Given the description of an element on the screen output the (x, y) to click on. 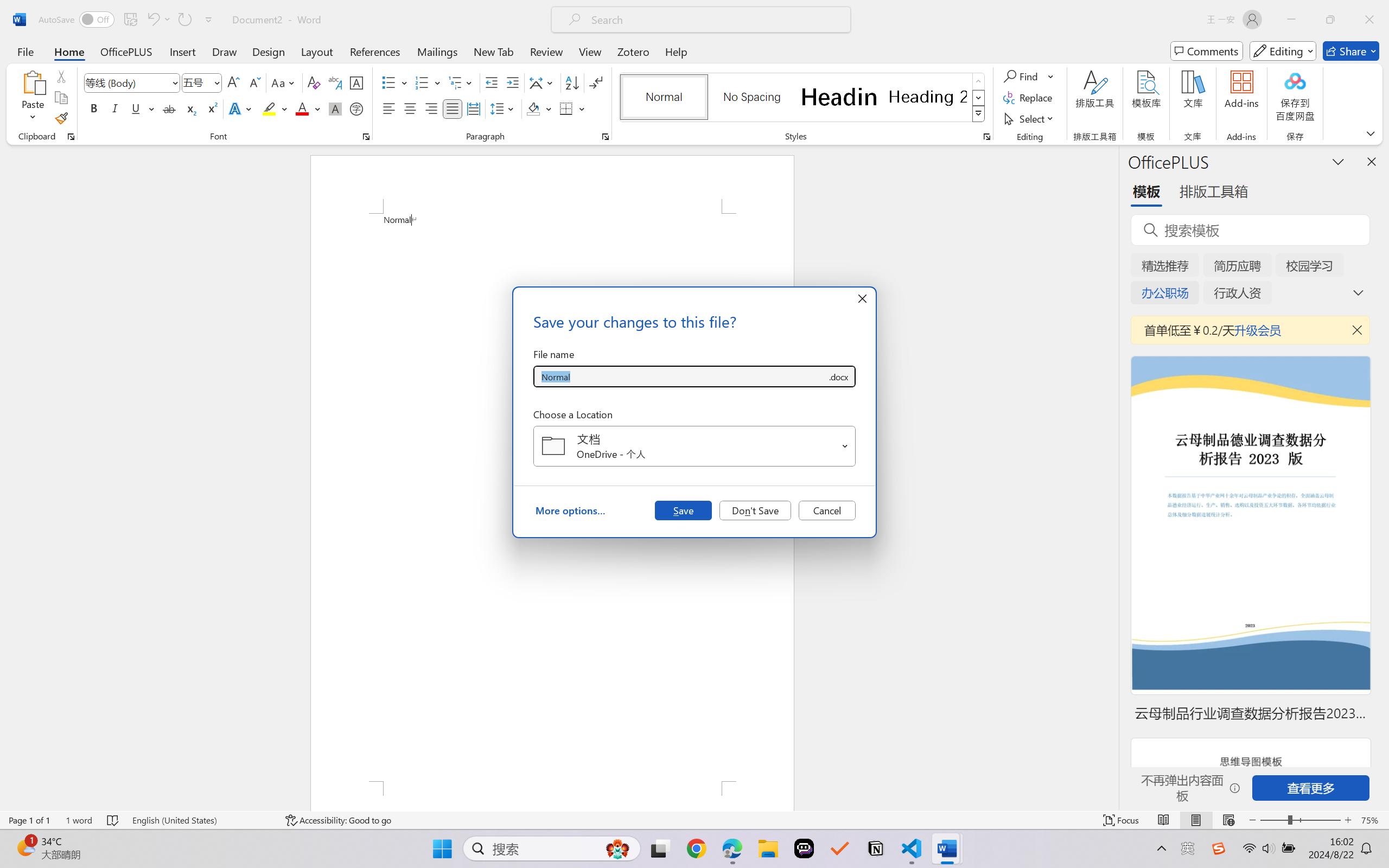
Shading RGB(0, 0, 0) (533, 108)
References (375, 51)
Font (132, 82)
Notion (875, 848)
Paste (33, 97)
Find (1022, 75)
Save as type (837, 376)
Office Clipboard... (70, 136)
Italic (115, 108)
Styles... (986, 136)
